Given the description of an element on the screen output the (x, y) to click on. 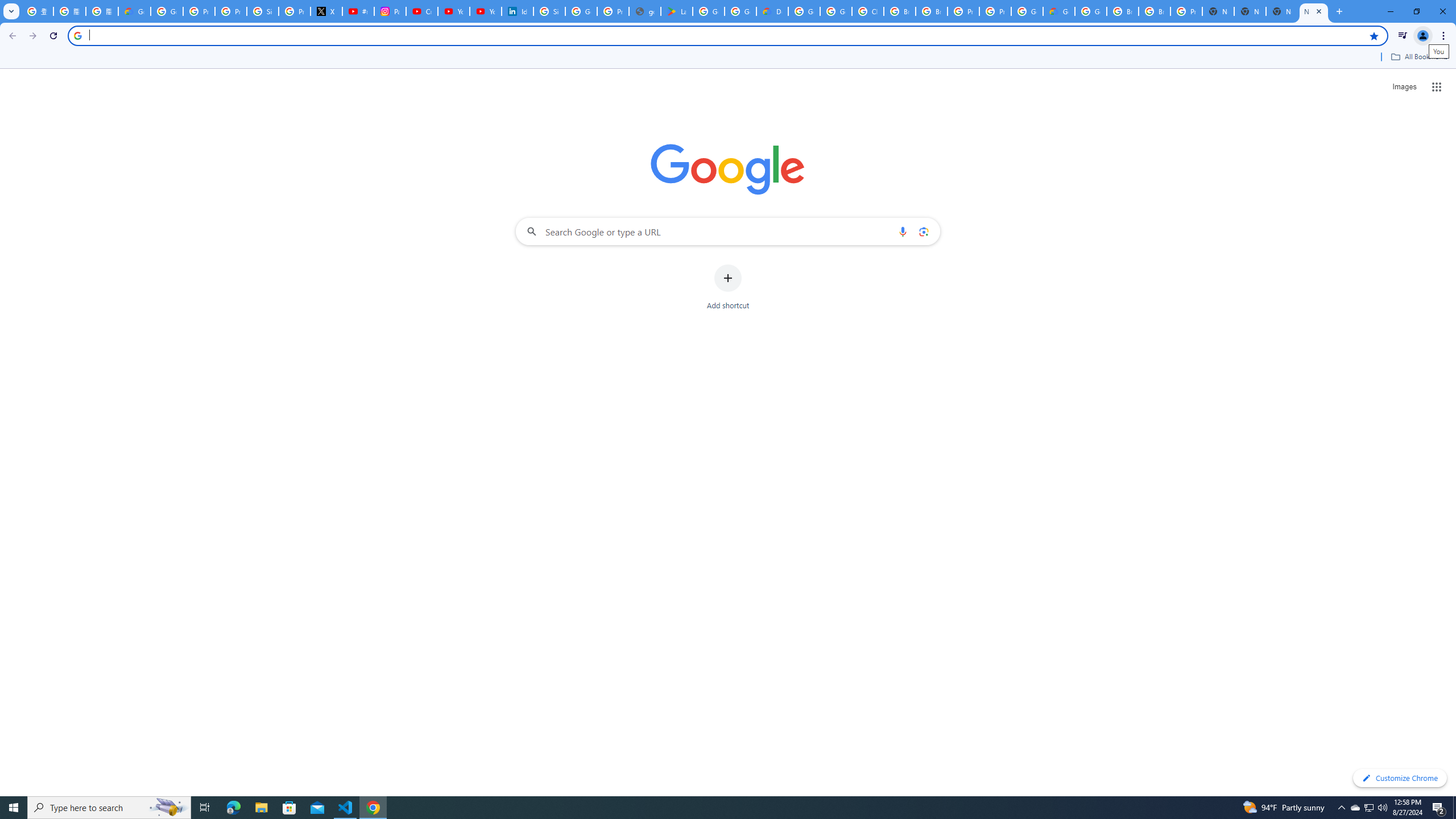
Search by voice (902, 230)
Search by image (922, 230)
#nbabasketballhighlights - YouTube (358, 11)
